Given the description of an element on the screen output the (x, y) to click on. 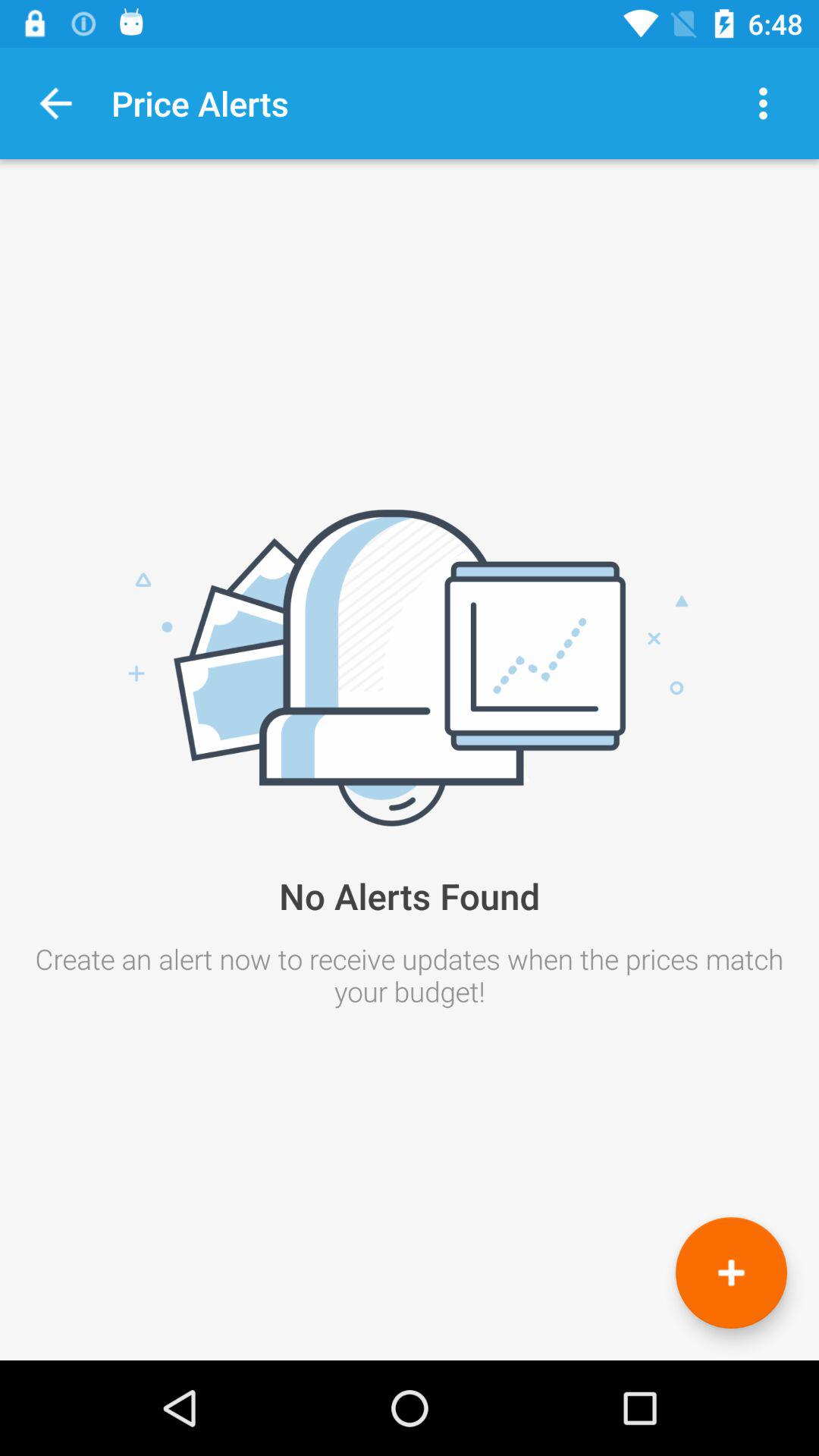
click item below create an alert icon (731, 1272)
